Given the description of an element on the screen output the (x, y) to click on. 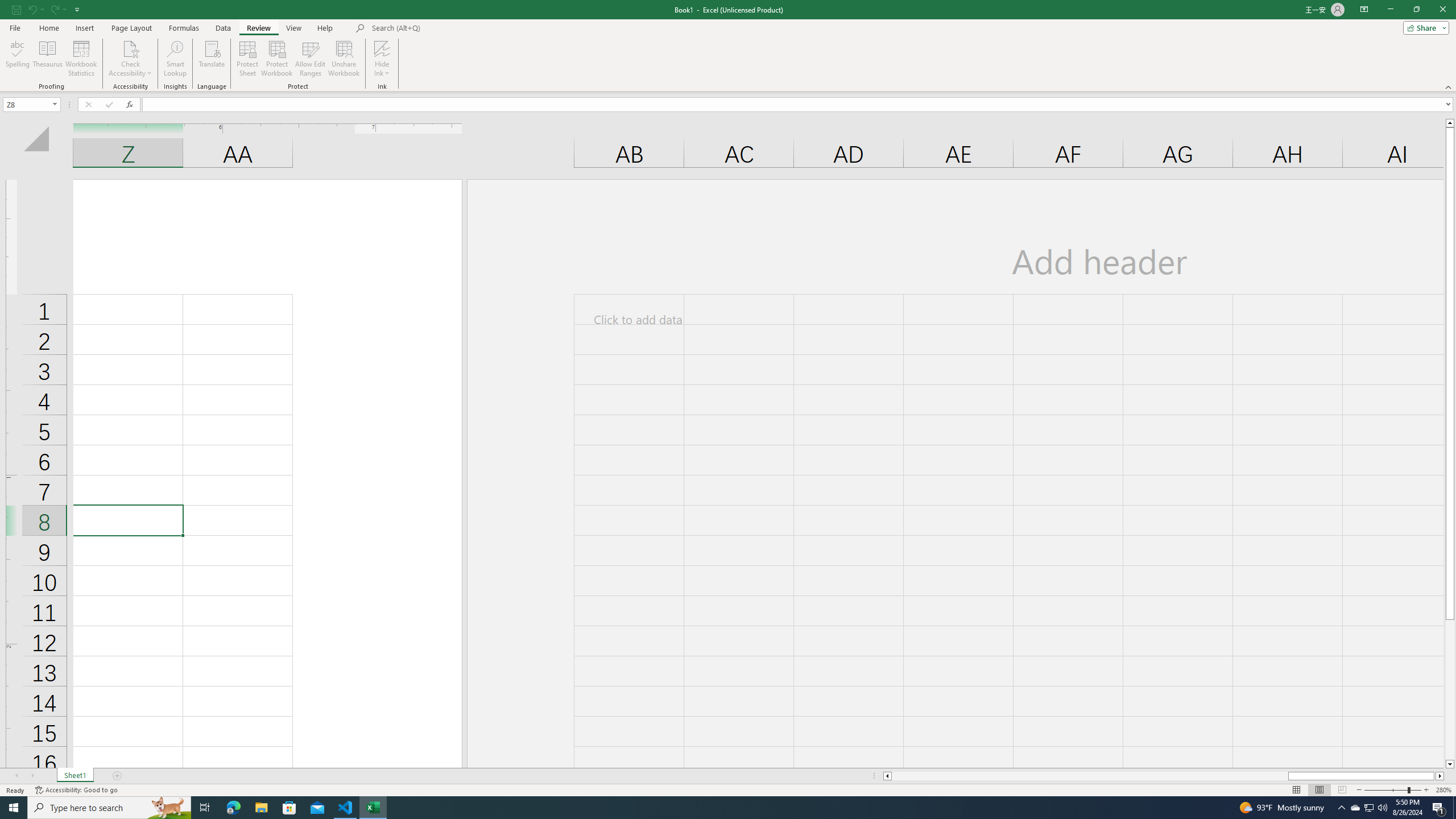
Smart Lookup (175, 58)
Thesaurus... (47, 58)
Protect Sheet... (247, 58)
